Given the description of an element on the screen output the (x, y) to click on. 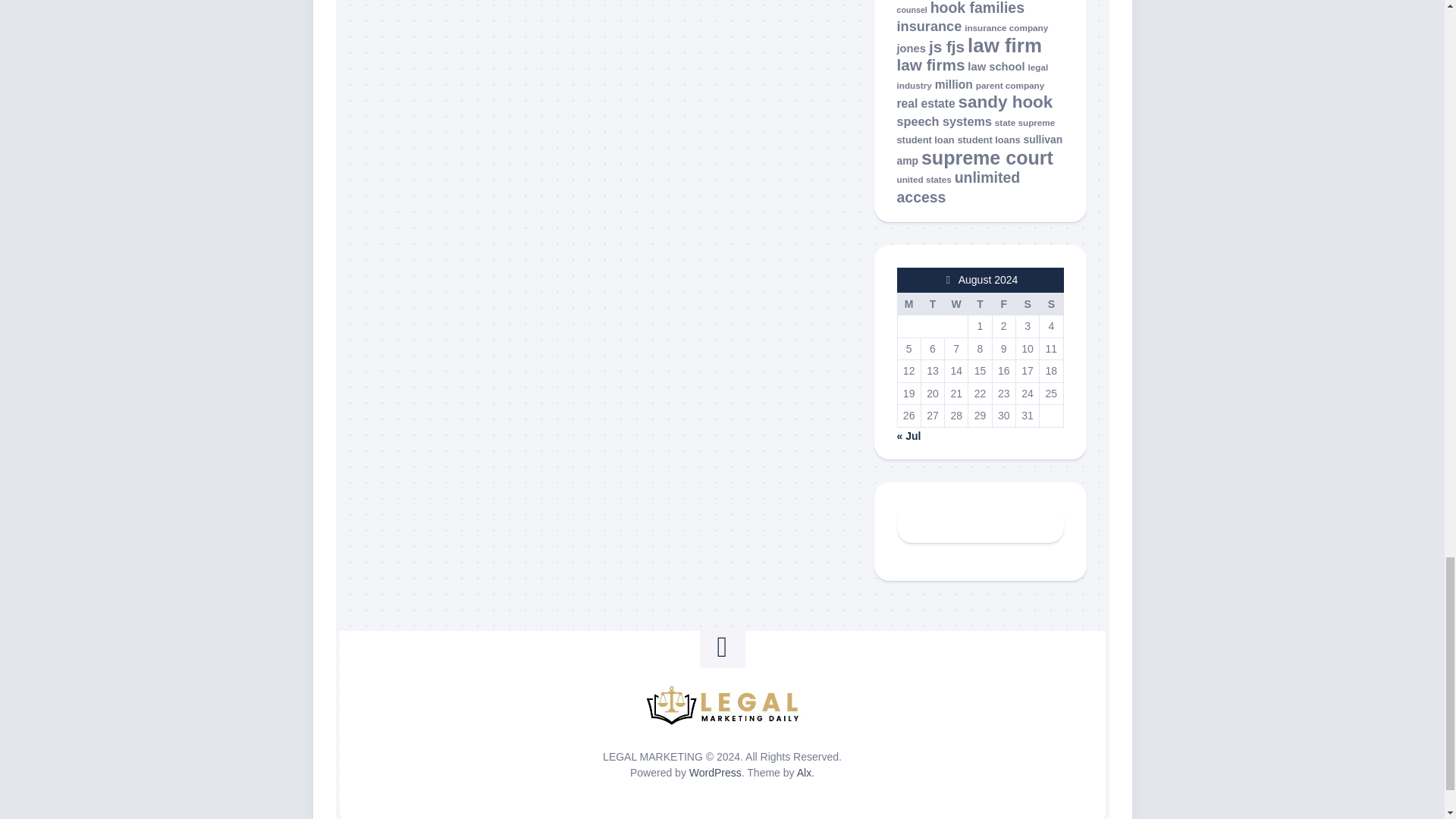
Sunday (1050, 303)
Thursday (979, 303)
Tuesday (931, 303)
Friday (1002, 303)
Monday (908, 303)
Wednesday (956, 303)
Saturday (1026, 303)
